Given the description of an element on the screen output the (x, y) to click on. 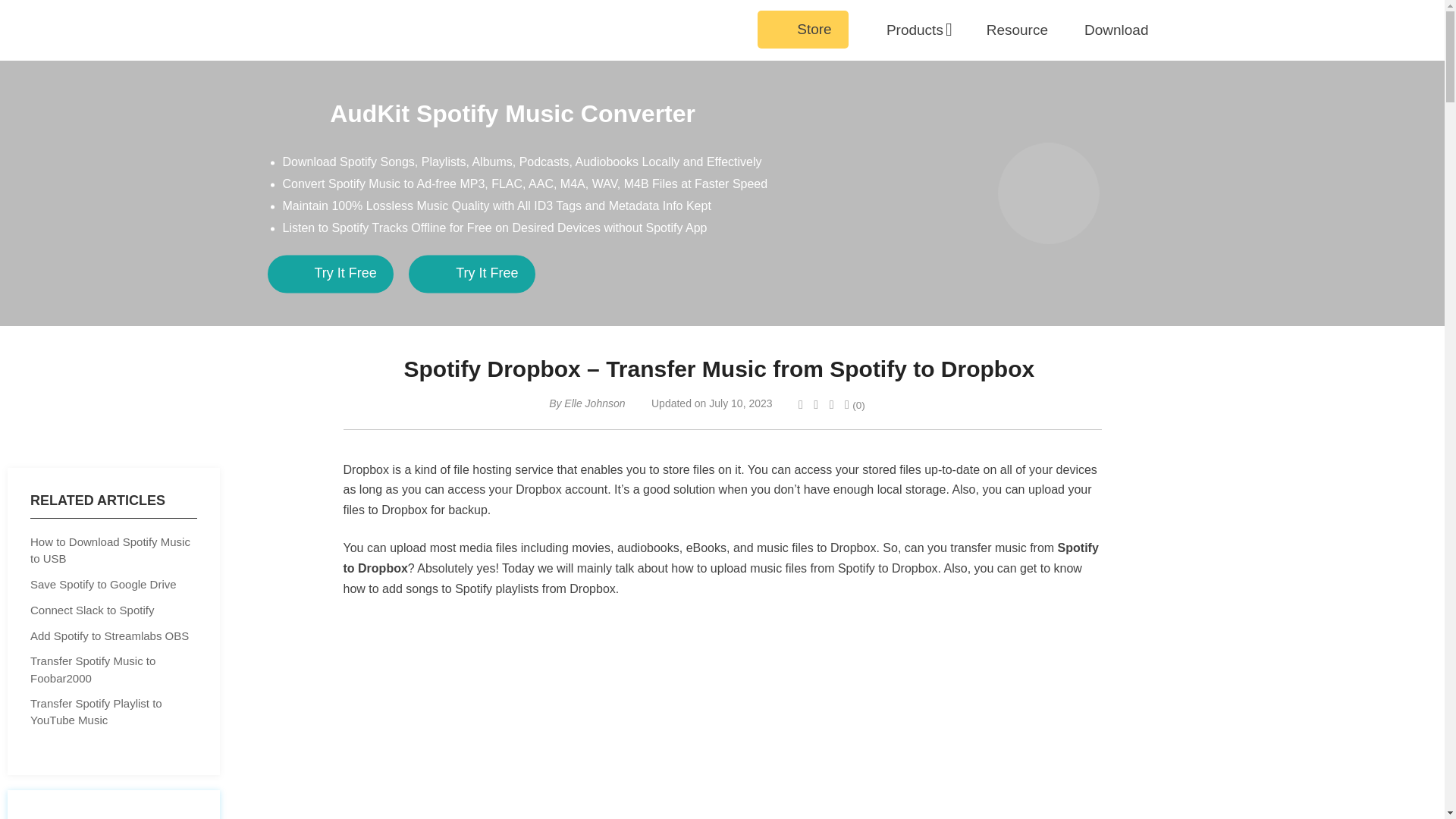
Download (1116, 30)
Connect Slack to Spotify (113, 610)
Try It Free (471, 274)
Spotify Music Converter (113, 804)
Transfer Spotify Playlist to YouTube Music (113, 712)
Products (914, 30)
AudKit Spotify Music Converter (480, 113)
Resource (1017, 30)
Comments (854, 405)
Save Spotify to Google Drive (113, 584)
How to Download Spotify Music to USB (113, 550)
Store (802, 29)
Try It Free (329, 274)
Transfer Spotify Music to Foobar2000 (113, 669)
Add Spotify to Streamlabs OBS (113, 636)
